Given the description of an element on the screen output the (x, y) to click on. 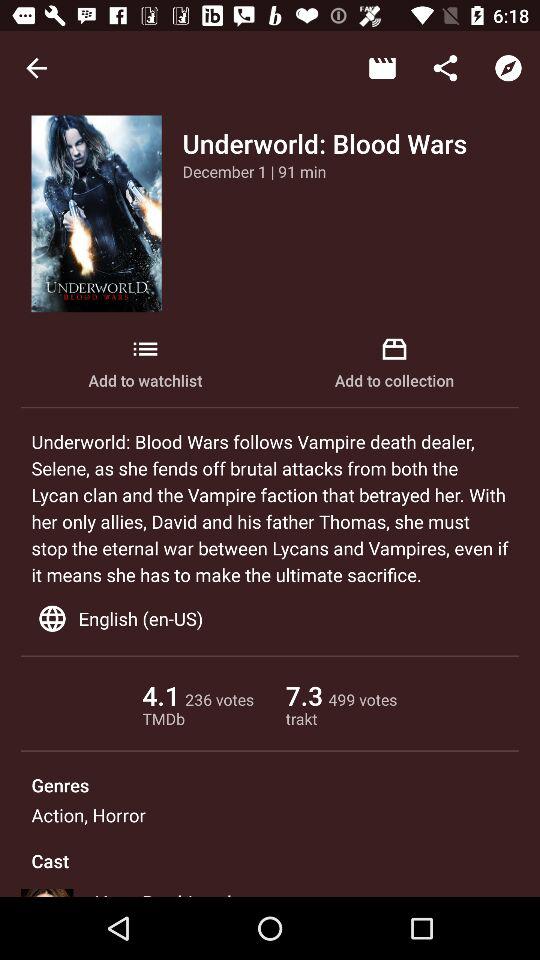
jump until the english (en-us) icon (270, 618)
